Given the description of an element on the screen output the (x, y) to click on. 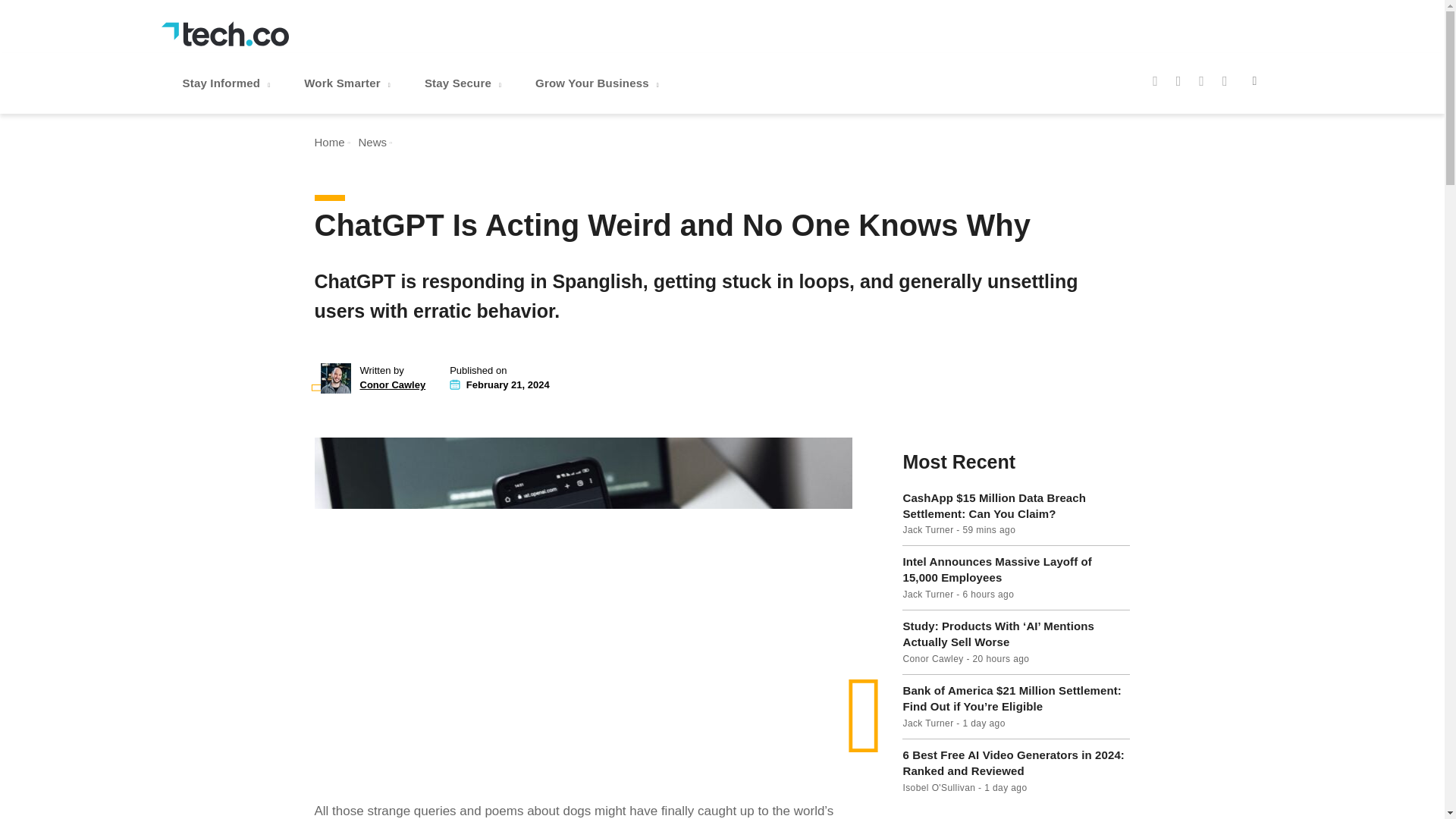
Work Smarter (348, 83)
Stay Secure (464, 83)
Grow Your Business (598, 83)
Stay Informed (227, 83)
